Given the description of an element on the screen output the (x, y) to click on. 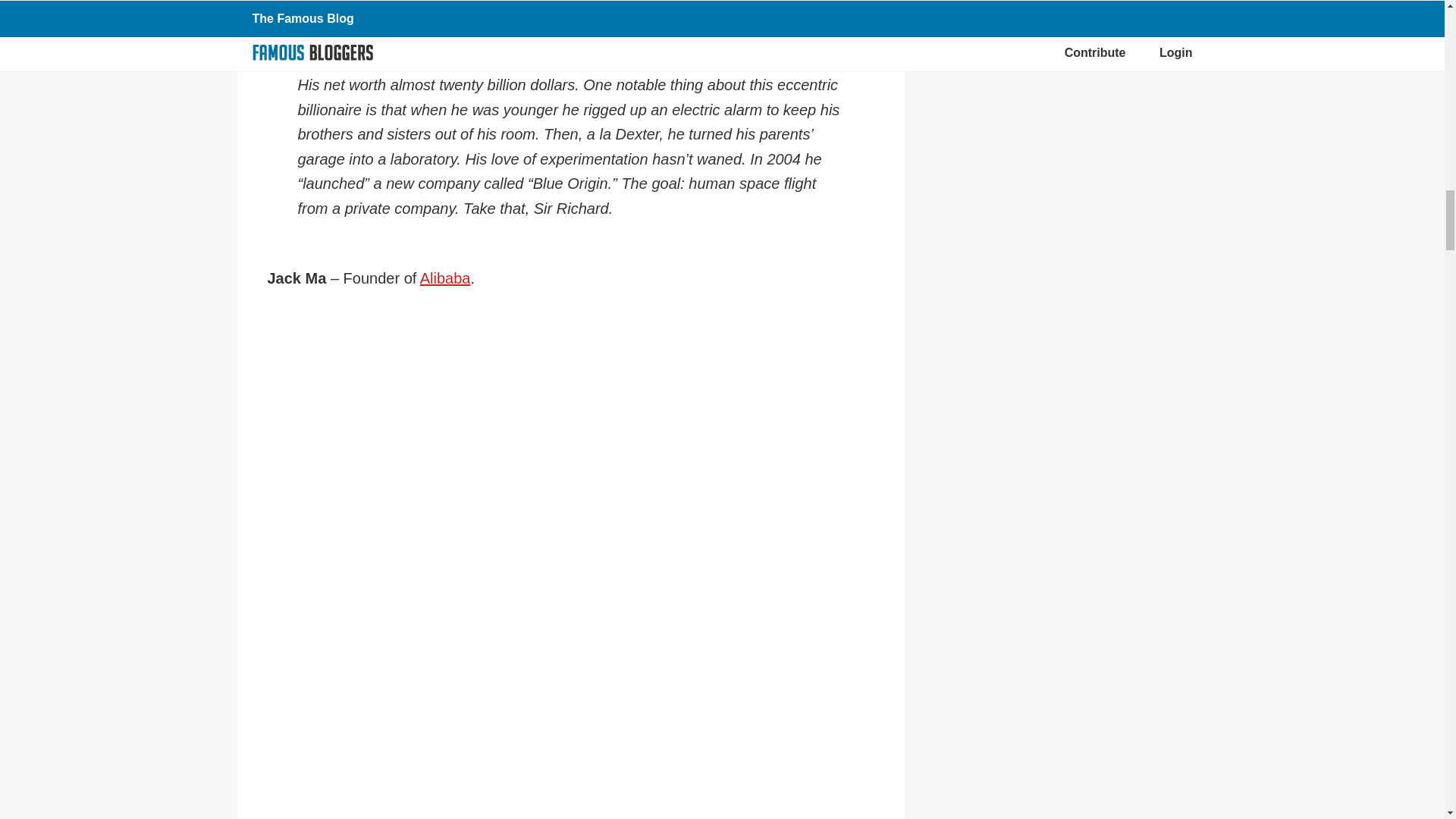
amazon (569, 4)
Alibaba (445, 278)
Alibaba (445, 278)
